Given the description of an element on the screen output the (x, y) to click on. 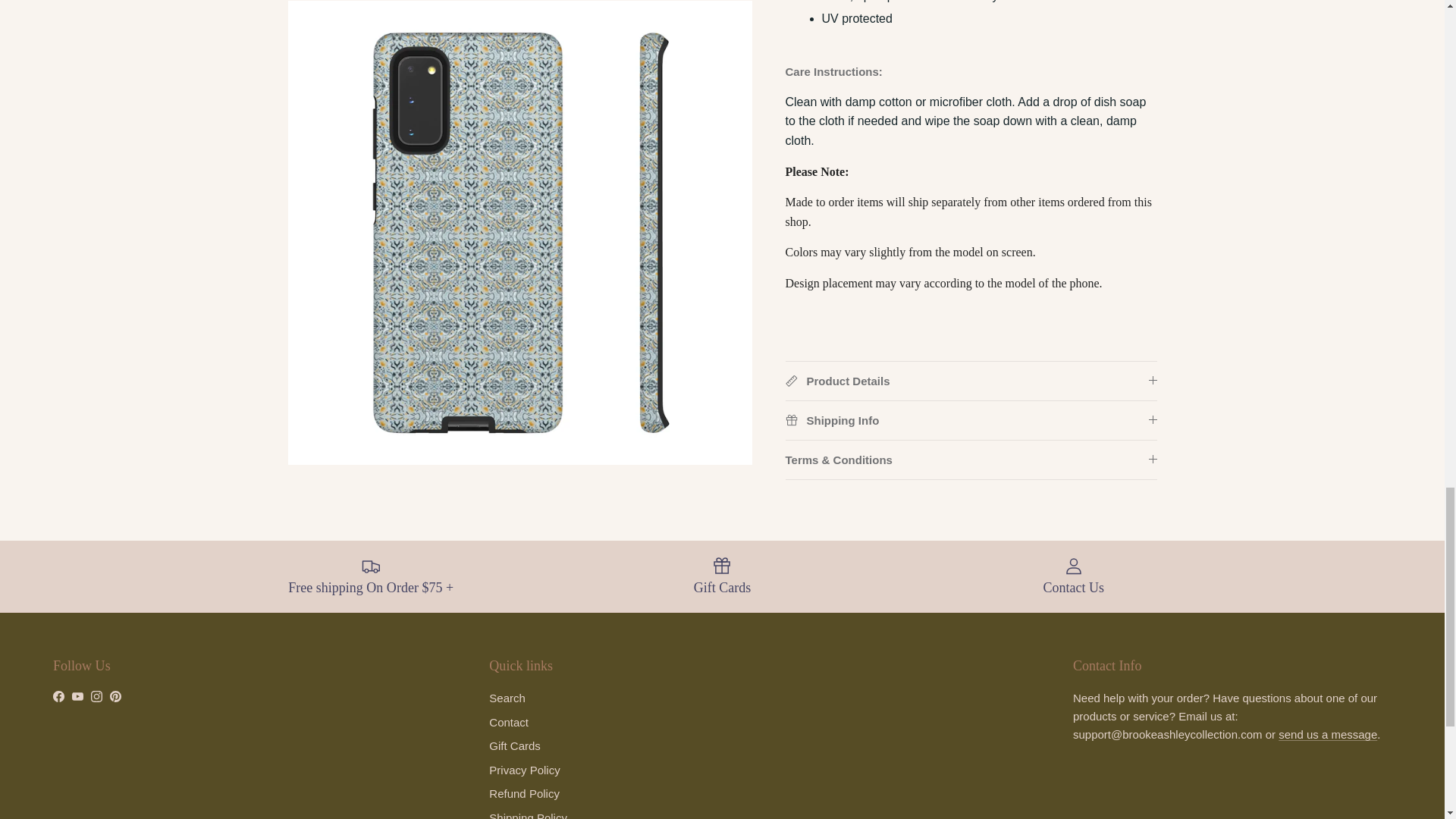
Brooke Ashley Collection  on YouTube (76, 696)
Brooke Ashley Collection  on Facebook (58, 696)
Brooke Ashley Collection  on Pinterest (115, 696)
Contact Us (1327, 734)
Brooke Ashley Collection  on Instagram (95, 696)
